Given the description of an element on the screen output the (x, y) to click on. 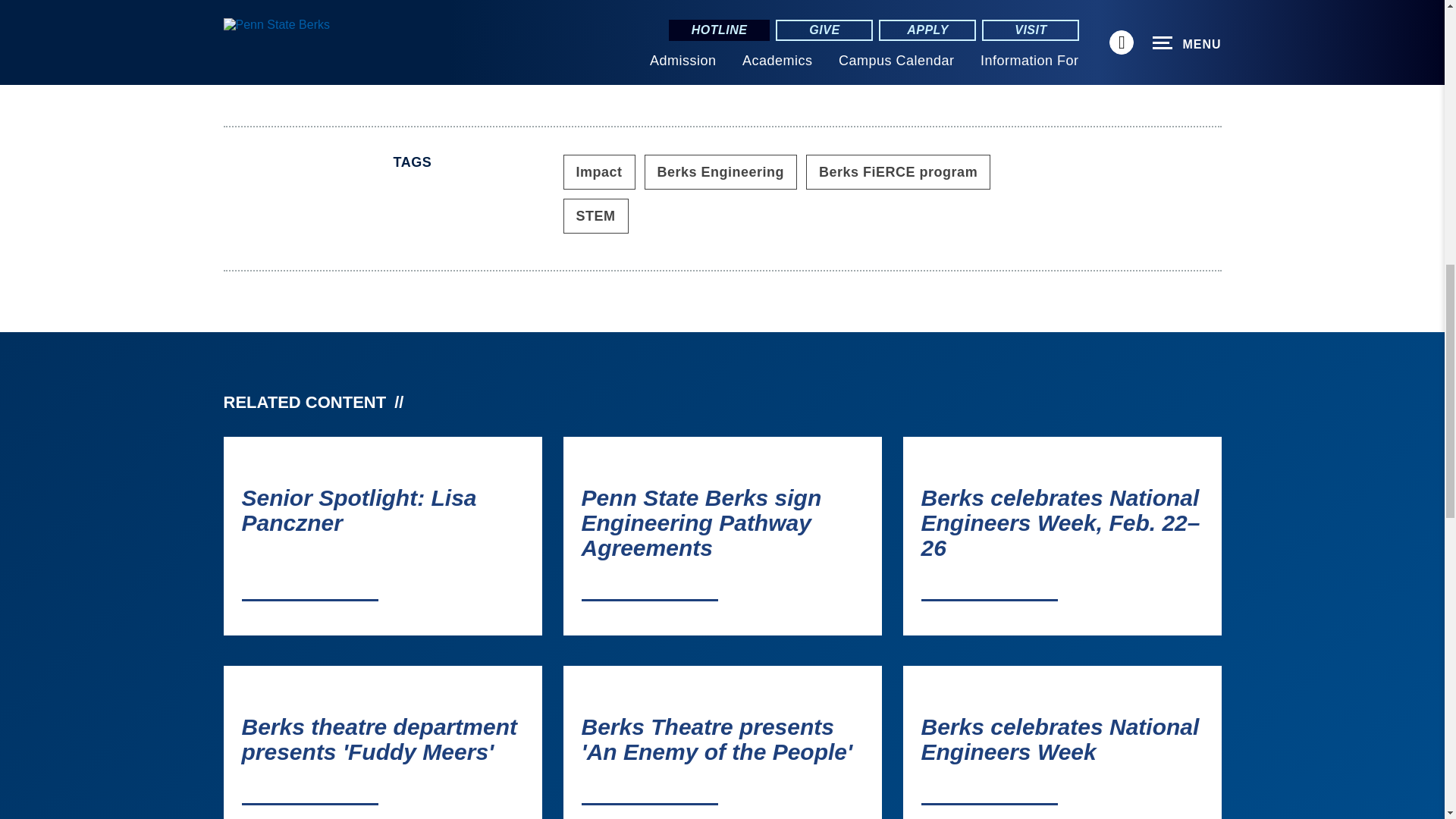
Content tagged with STEM (594, 216)
Content tagged with Berks Engineering (721, 171)
Content tagged with Impact (598, 171)
Content tagged with Berks FiERCE program (898, 171)
